Given the description of an element on the screen output the (x, y) to click on. 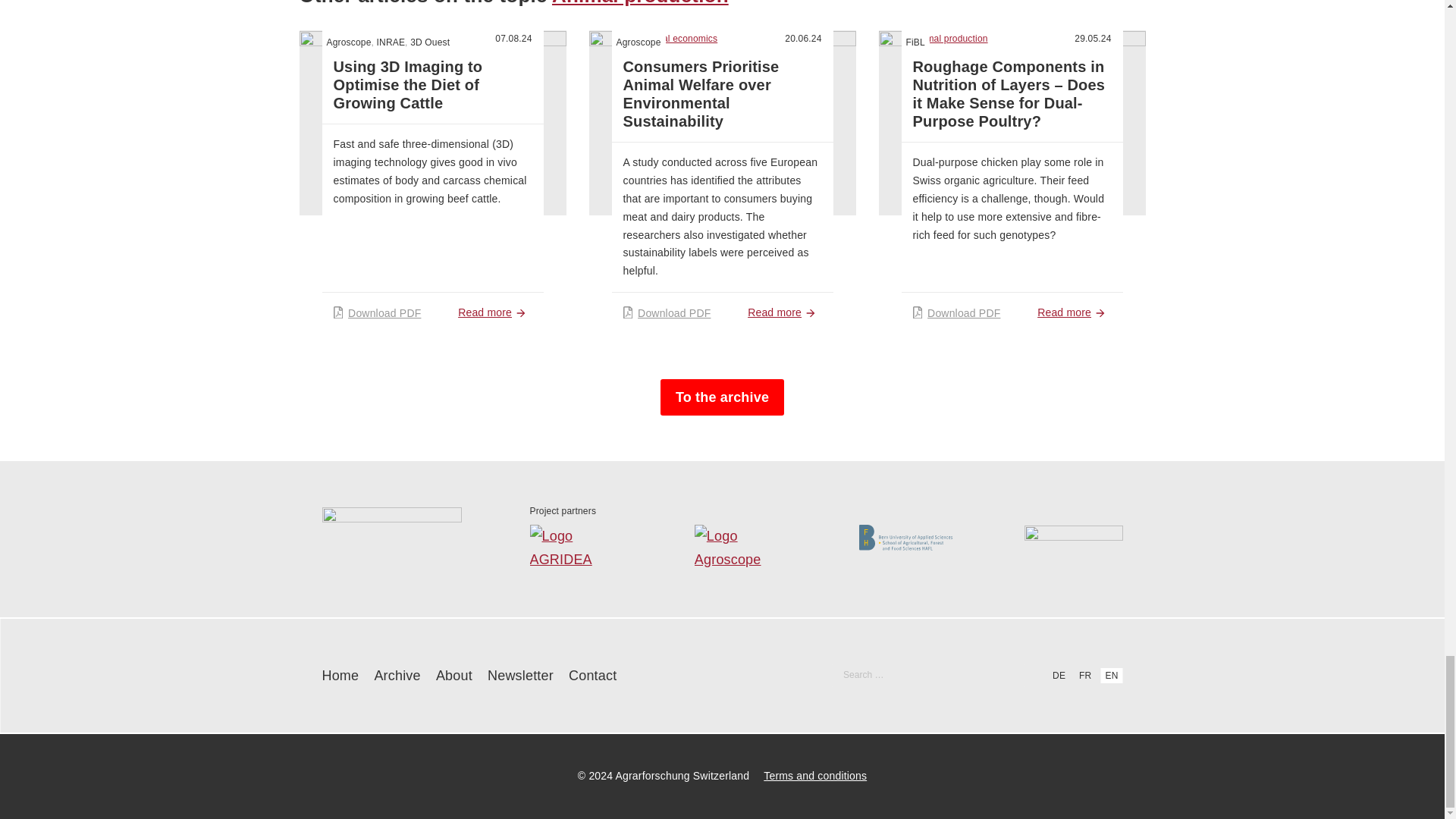
Read more (494, 312)
Agroscope (348, 41)
Animal production (640, 3)
07.08.24 (513, 38)
Animal production (382, 38)
Download PDF (377, 312)
Read articles from 2024 (513, 38)
Read articles from the Animal production category (382, 38)
20.06.24 (802, 38)
